Given the description of an element on the screen output the (x, y) to click on. 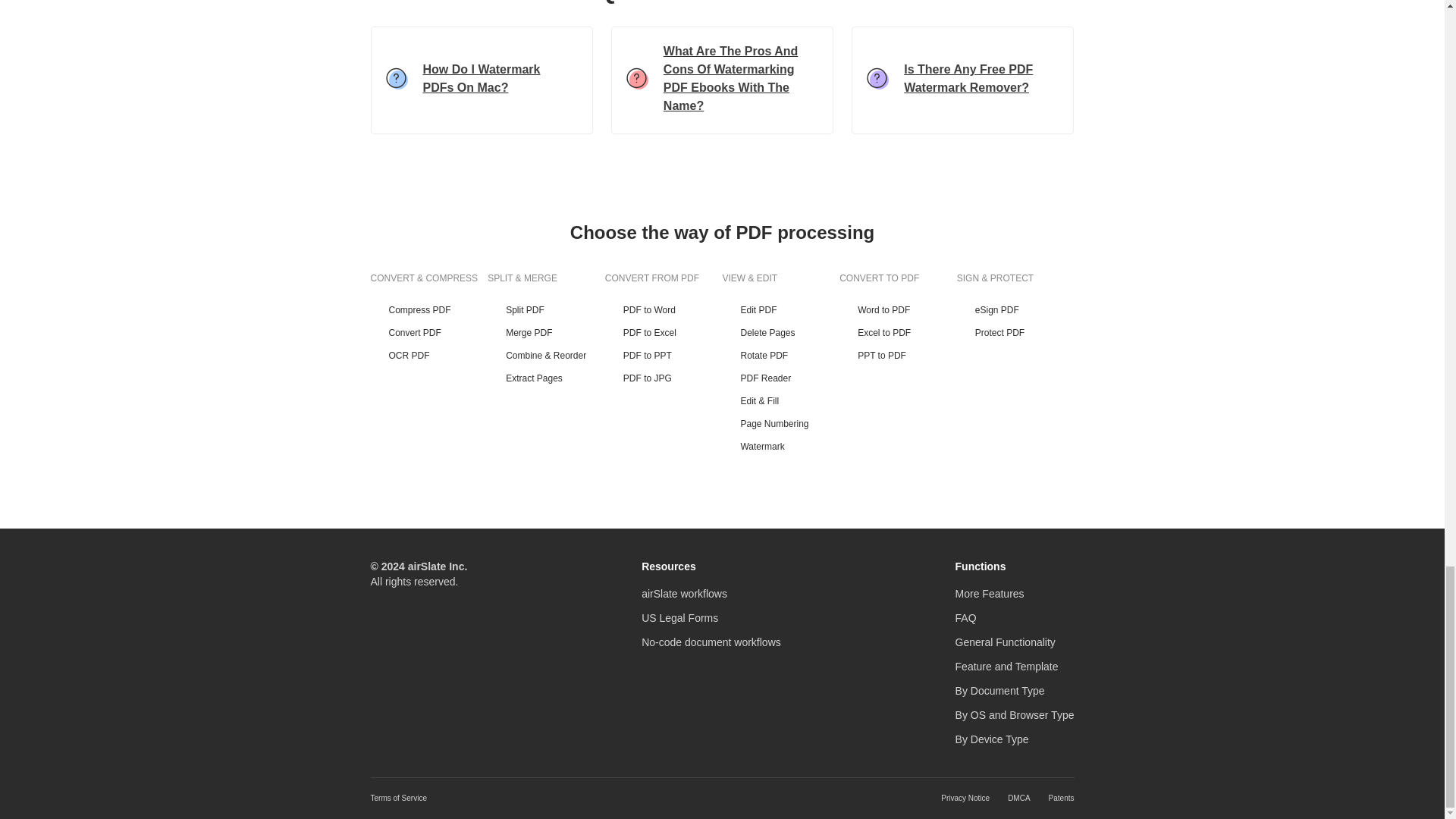
Page Numbering (781, 423)
PDF Reader (781, 378)
Extract Pages (546, 378)
How Do I Watermark PDFs On Mac? (480, 80)
PDF to JPG (663, 378)
Word to PDF (898, 309)
Edit PDF (781, 309)
Merge PDF (546, 332)
Delete Pages (781, 332)
Rotate PDF (781, 355)
Convert PDF (428, 332)
Split PDF (546, 309)
OCR PDF (428, 355)
PDF to Excel (663, 332)
